Given the description of an element on the screen output the (x, y) to click on. 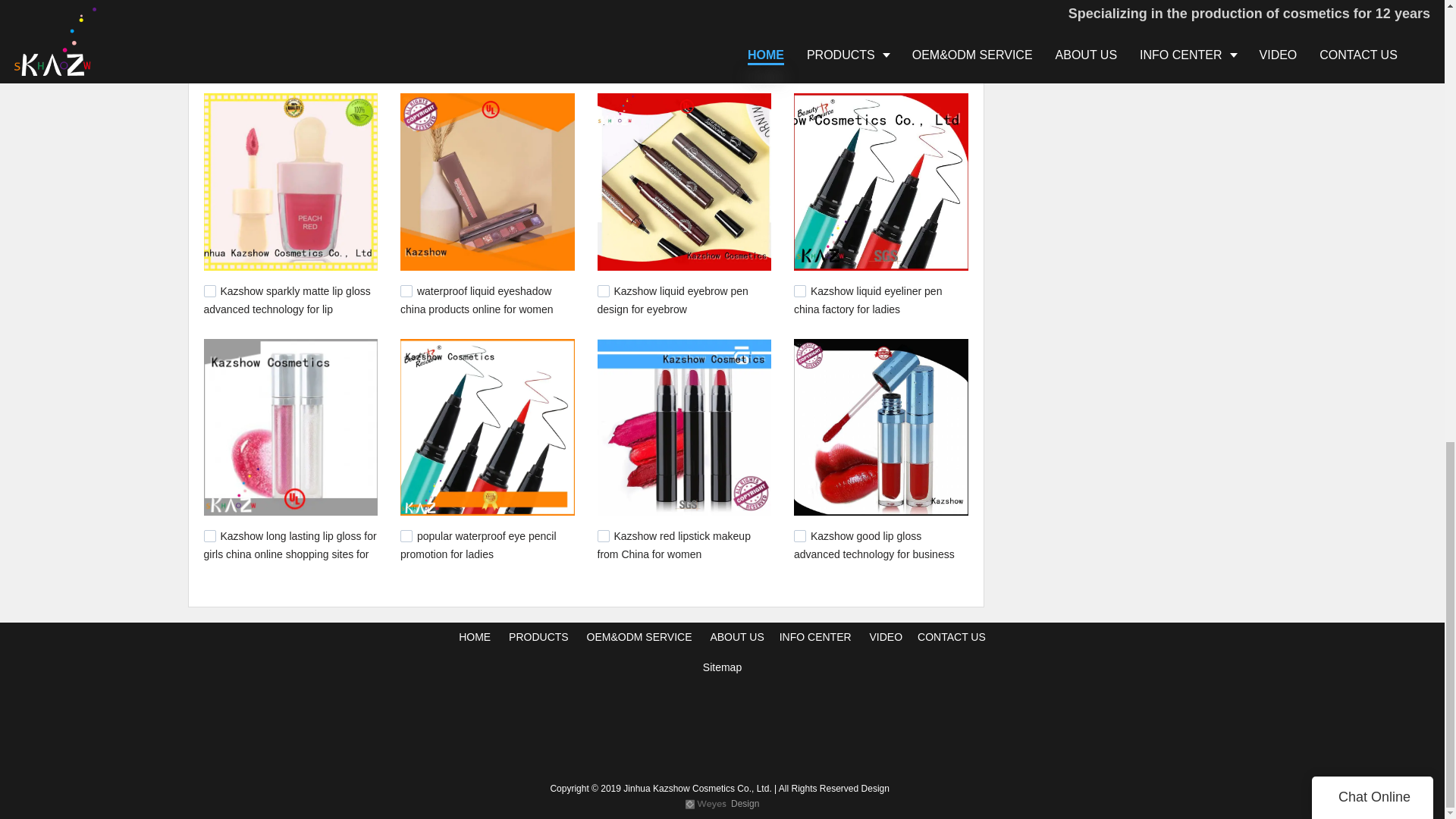
2446 (603, 291)
2409 (799, 291)
Kazshow liquid eyeliner pen china factory for ladies (867, 300)
2451 (406, 291)
2235 (799, 535)
2496 (799, 45)
2523 (406, 45)
2527 (209, 45)
2251 (603, 535)
popular waterproof eye pencil promotion for ladies (478, 544)
Kazshow liquid eyebrow pen design for eyebrow (672, 300)
